Given the description of an element on the screen output the (x, y) to click on. 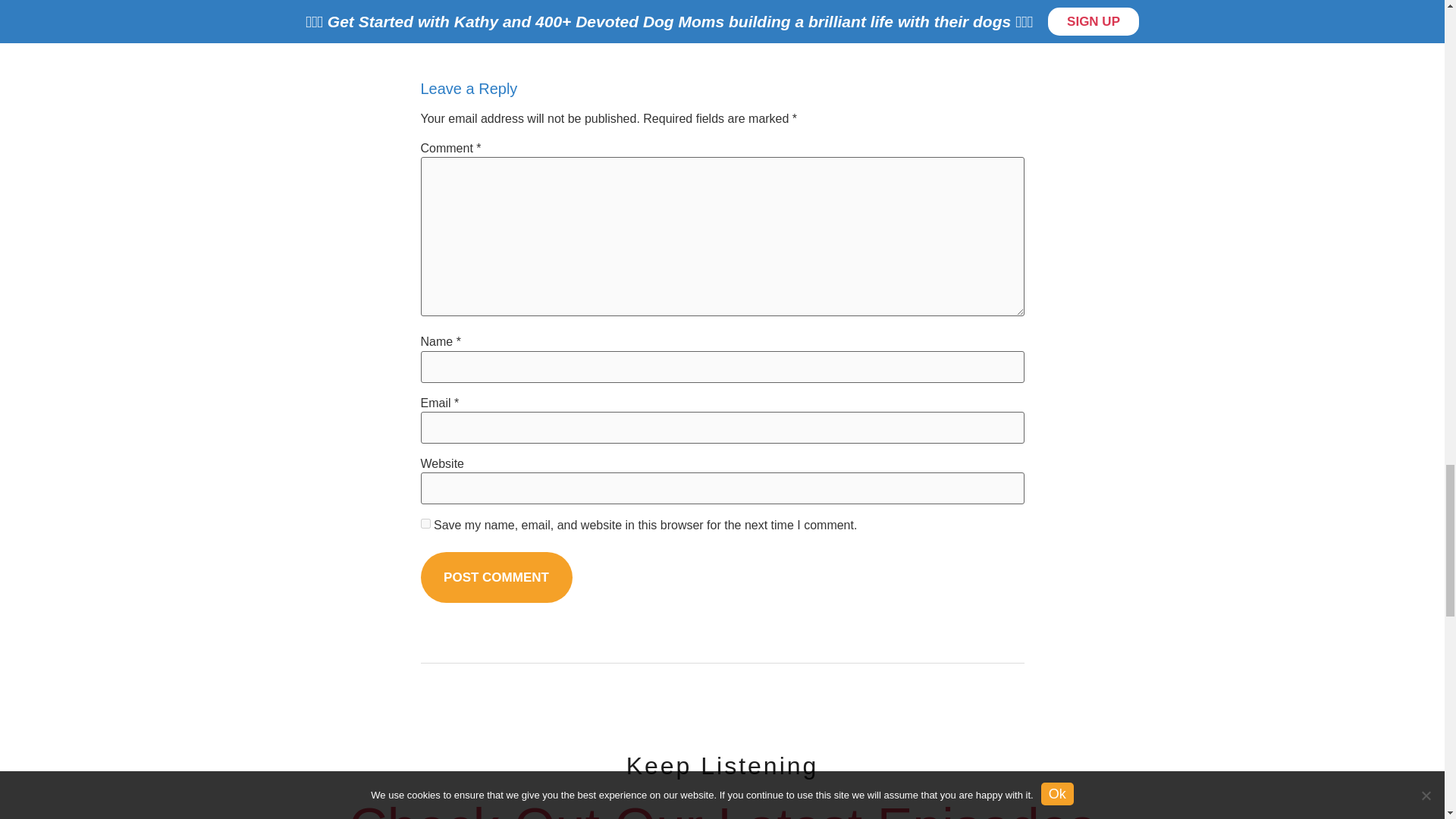
Post Comment (496, 577)
Post Comment (496, 577)
Subscribe on iTunes! (483, 23)
yes (424, 523)
